Given the description of an element on the screen output the (x, y) to click on. 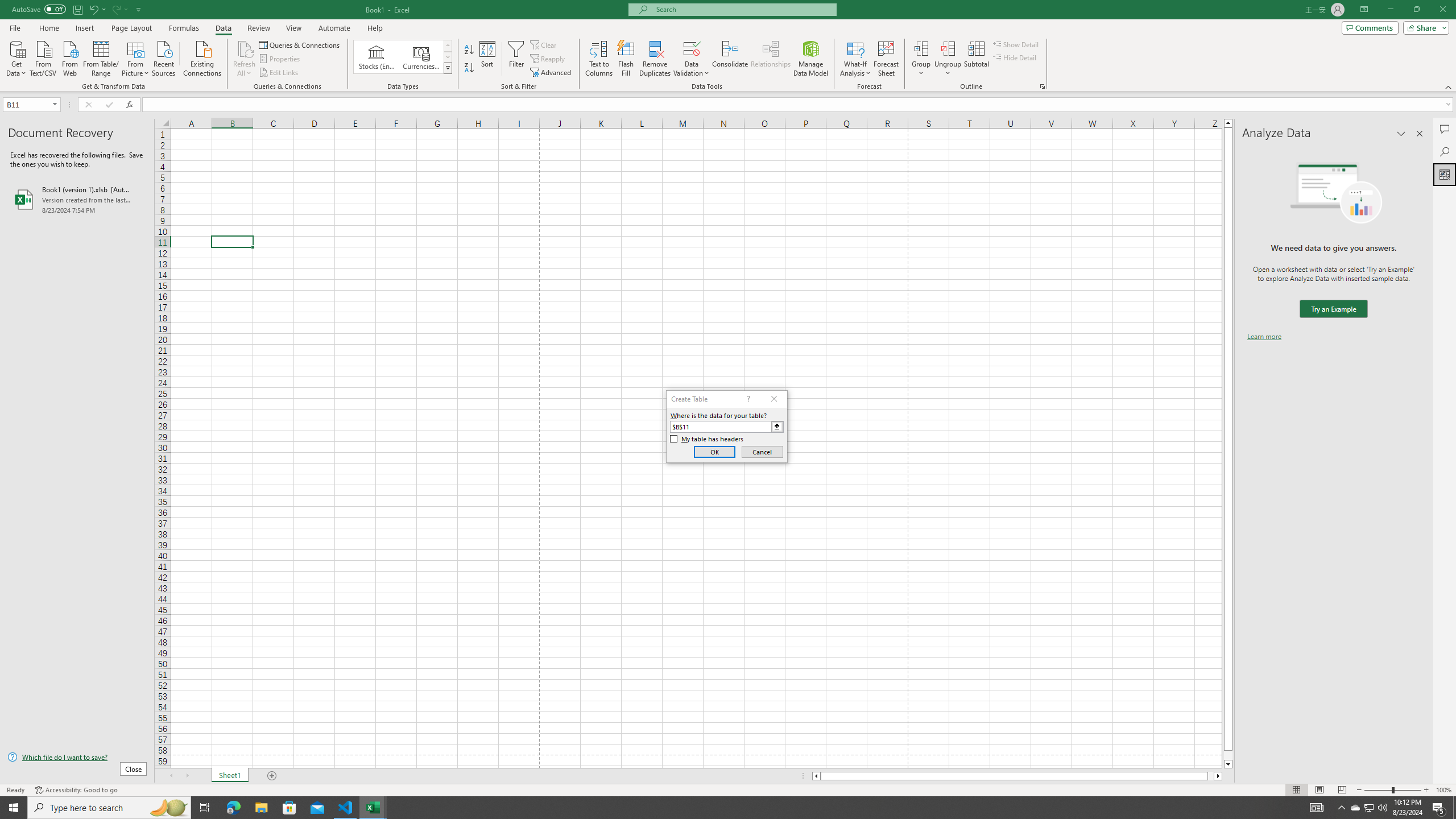
From Table/Range (100, 57)
Sort... (487, 58)
Recent Sources (163, 57)
